Given the description of an element on the screen output the (x, y) to click on. 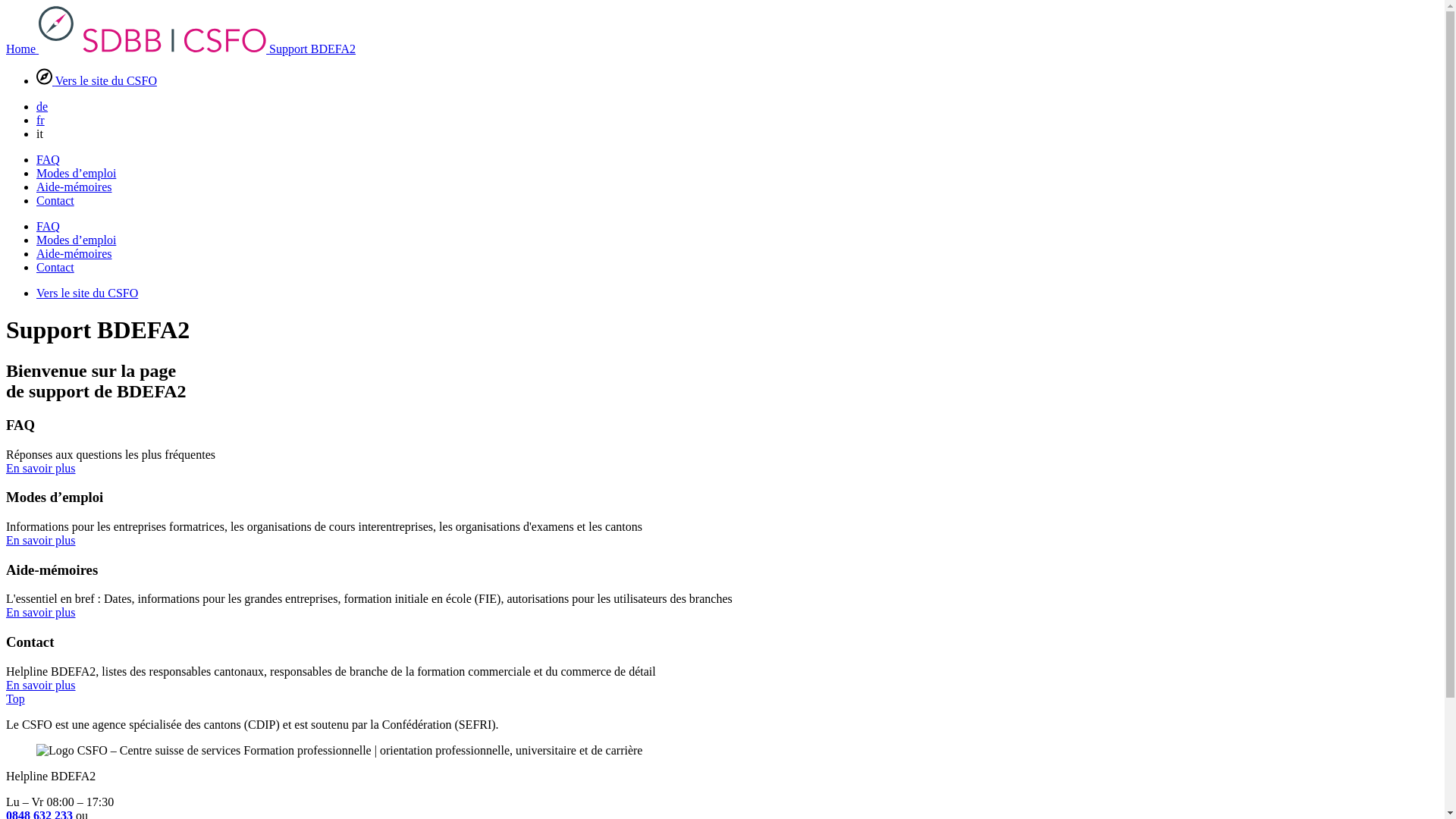
En savoir plus Element type: text (40, 467)
Home Support BDEFA2 Element type: text (180, 48)
fr Element type: text (40, 119)
Contact Element type: text (55, 200)
de Element type: text (41, 106)
En savoir plus Element type: text (40, 611)
Contact Element type: text (55, 266)
Vers le site du CSFO Element type: text (87, 292)
FAQ Element type: text (47, 225)
Vers le site du CSFO Element type: text (96, 80)
FAQ Element type: text (47, 159)
Top Element type: text (15, 698)
En savoir plus Element type: text (40, 684)
En savoir plus Element type: text (40, 539)
